Given the description of an element on the screen output the (x, y) to click on. 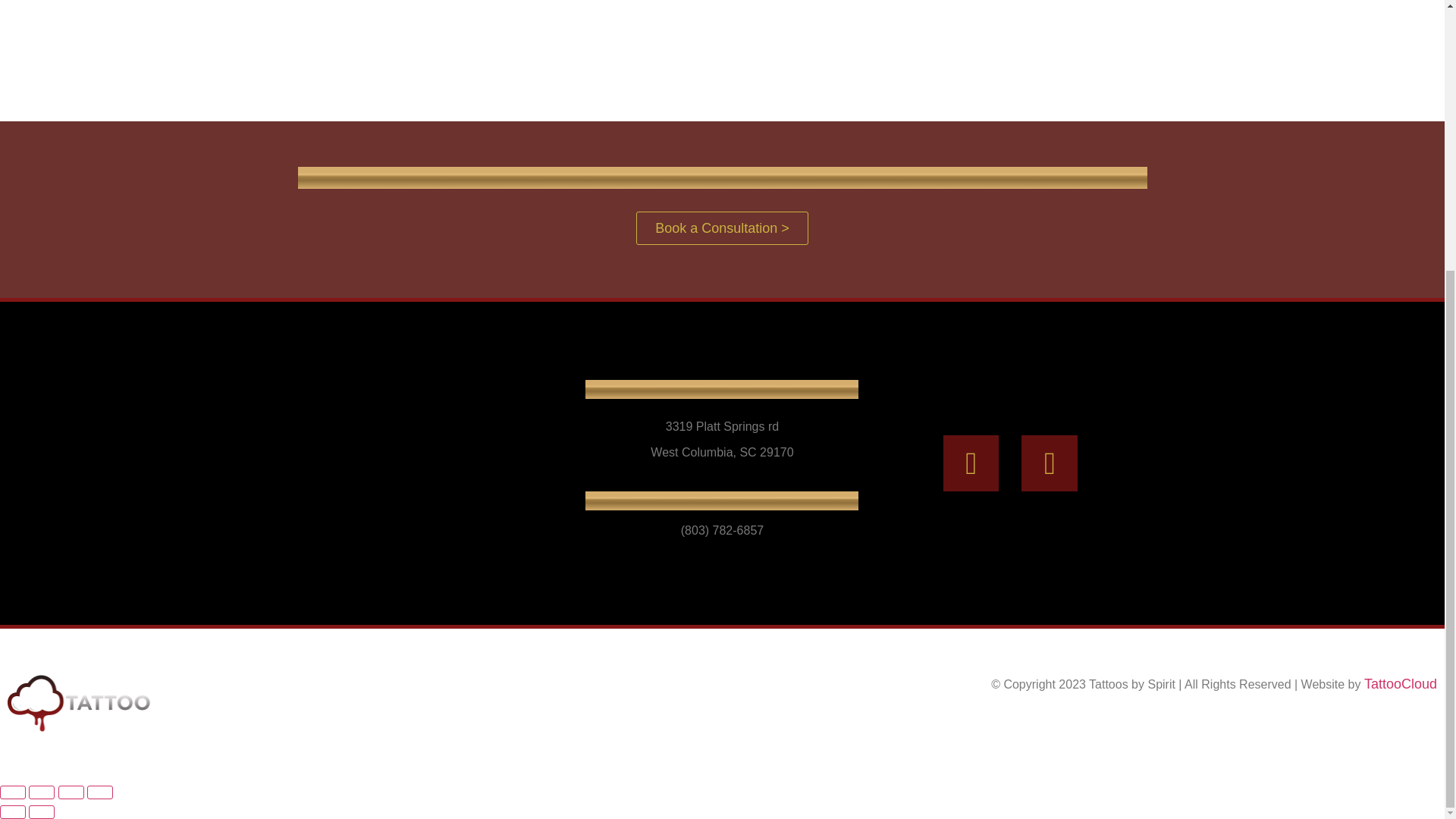
3319 Platt Springs rd West Columbia, SC 29170 (433, 463)
TattooCloud (1400, 683)
